Given the description of an element on the screen output the (x, y) to click on. 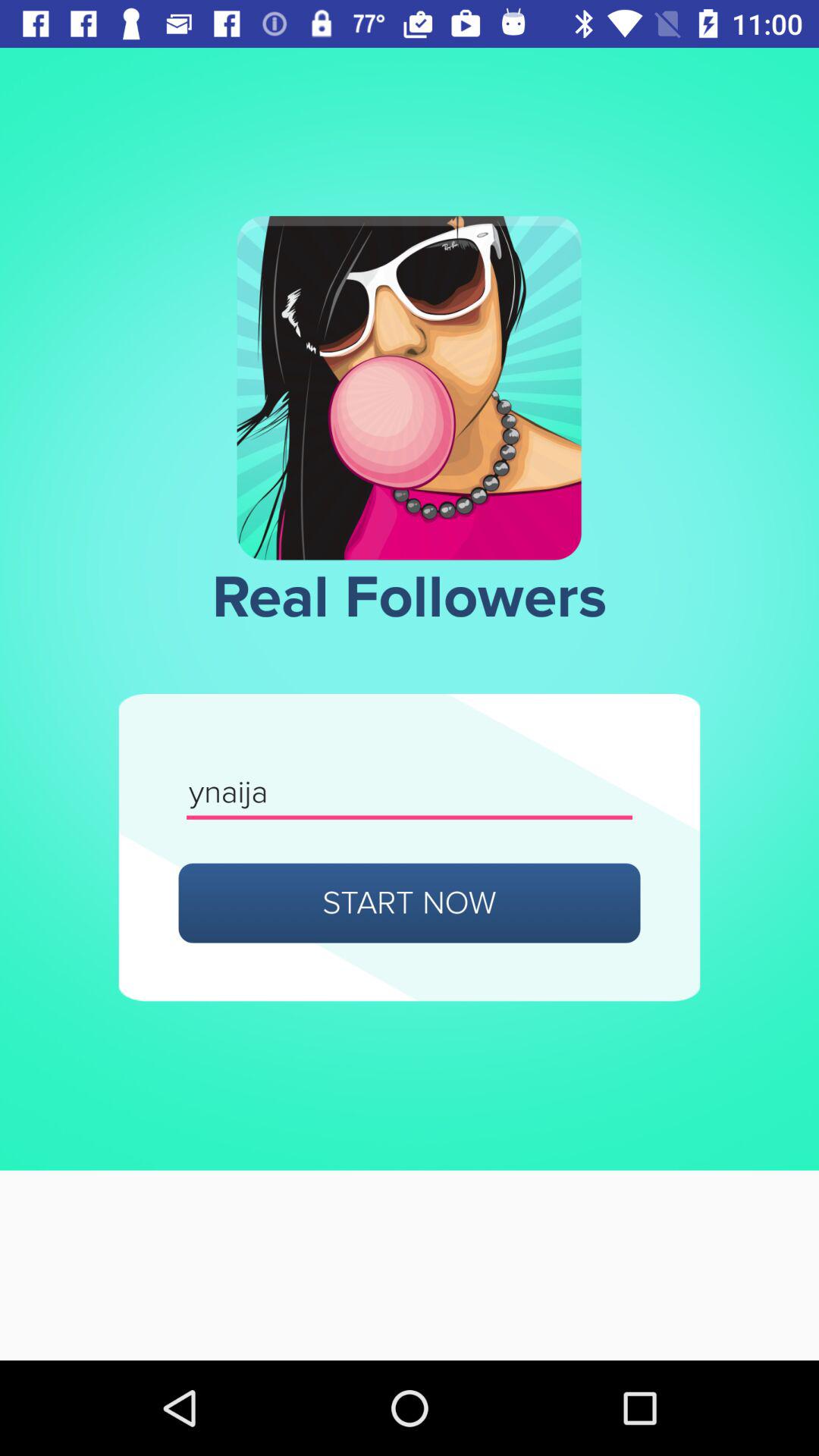
scroll to the ynaija icon (409, 793)
